Given the description of an element on the screen output the (x, y) to click on. 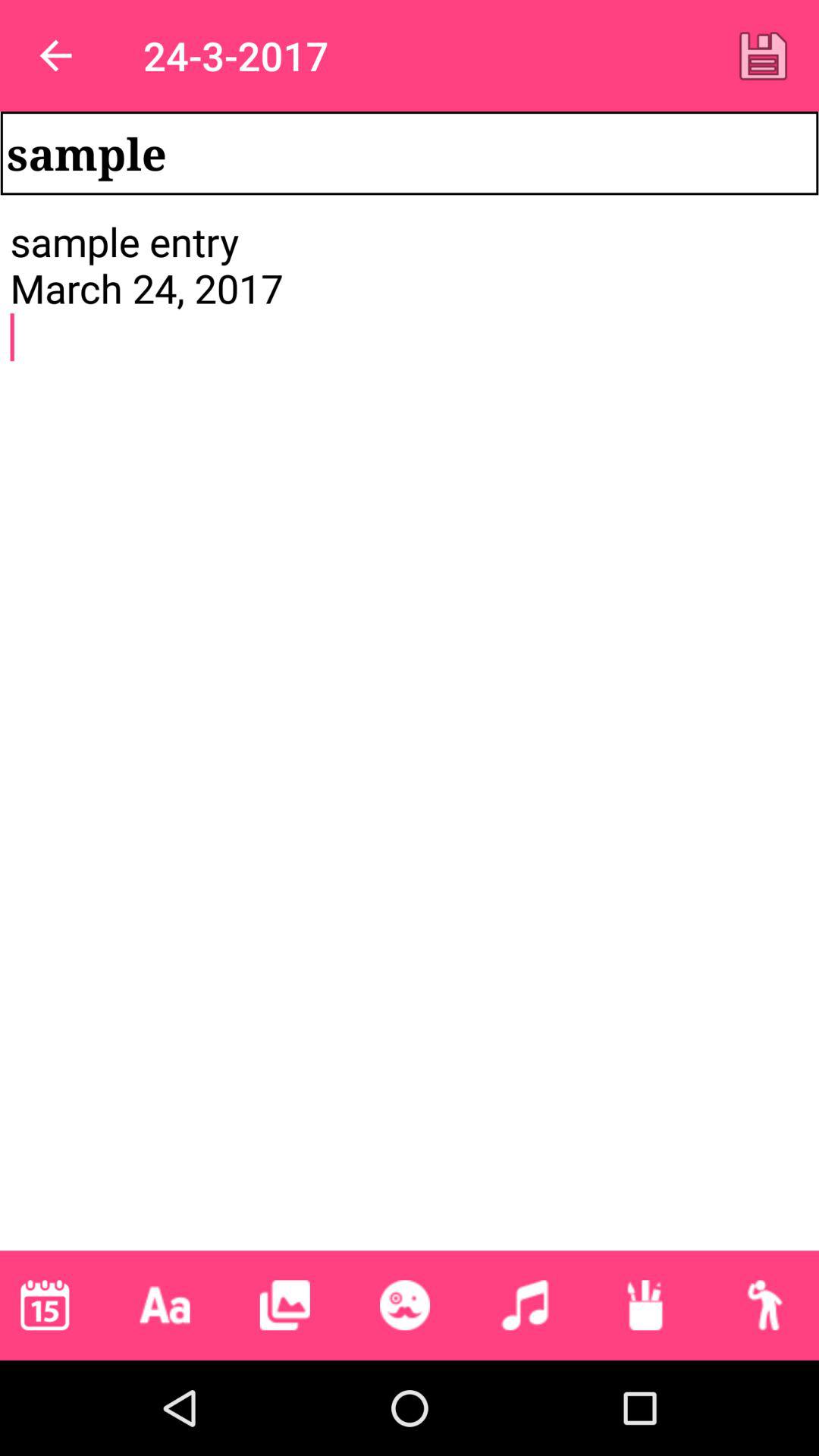
select the sixth button at the bottom of the page (644, 1304)
no tag (404, 1304)
click the music button (524, 1304)
the text aa in the last line (165, 1304)
